Given the description of an element on the screen output the (x, y) to click on. 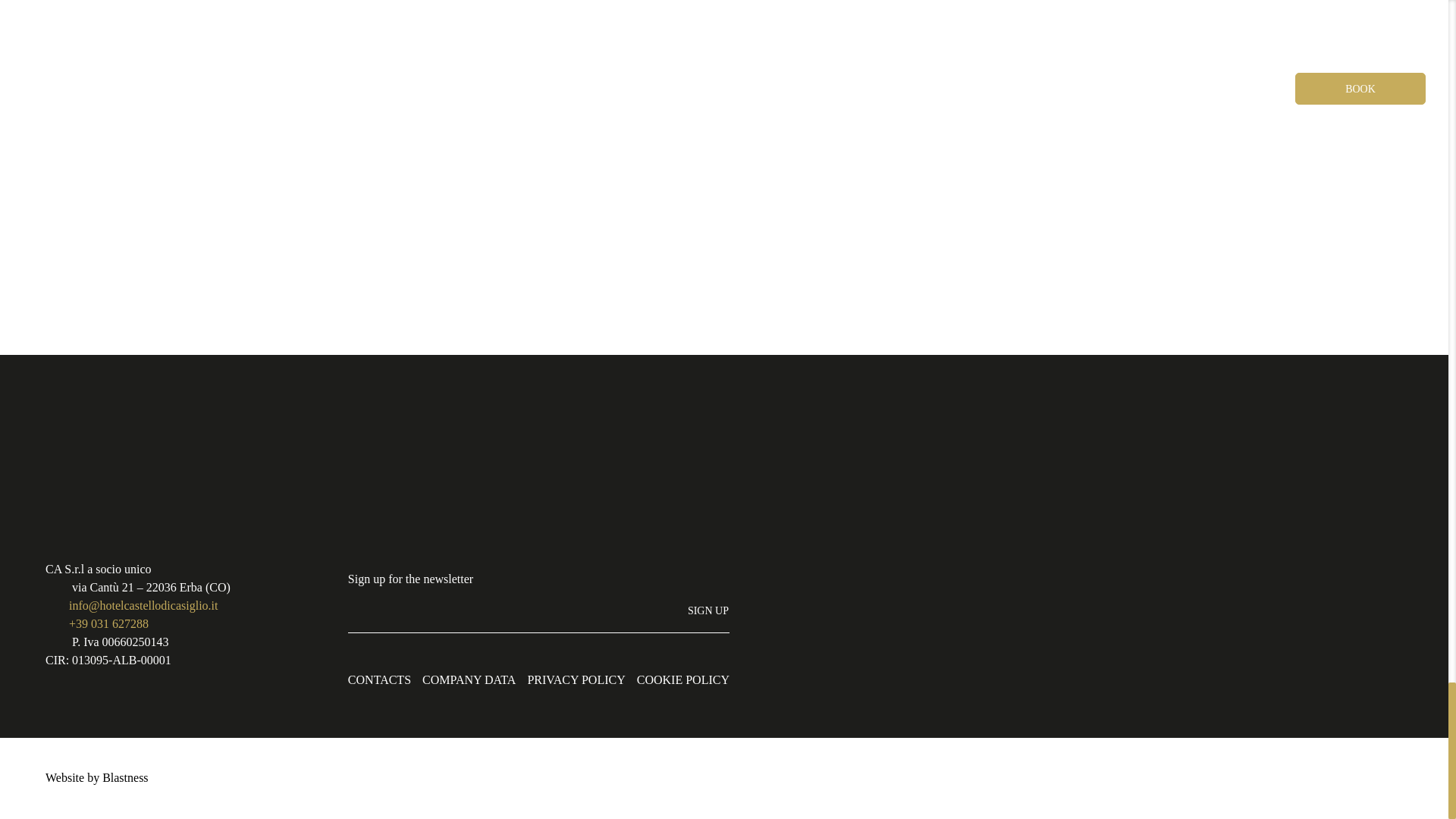
Sign up (708, 611)
